Given the description of an element on the screen output the (x, y) to click on. 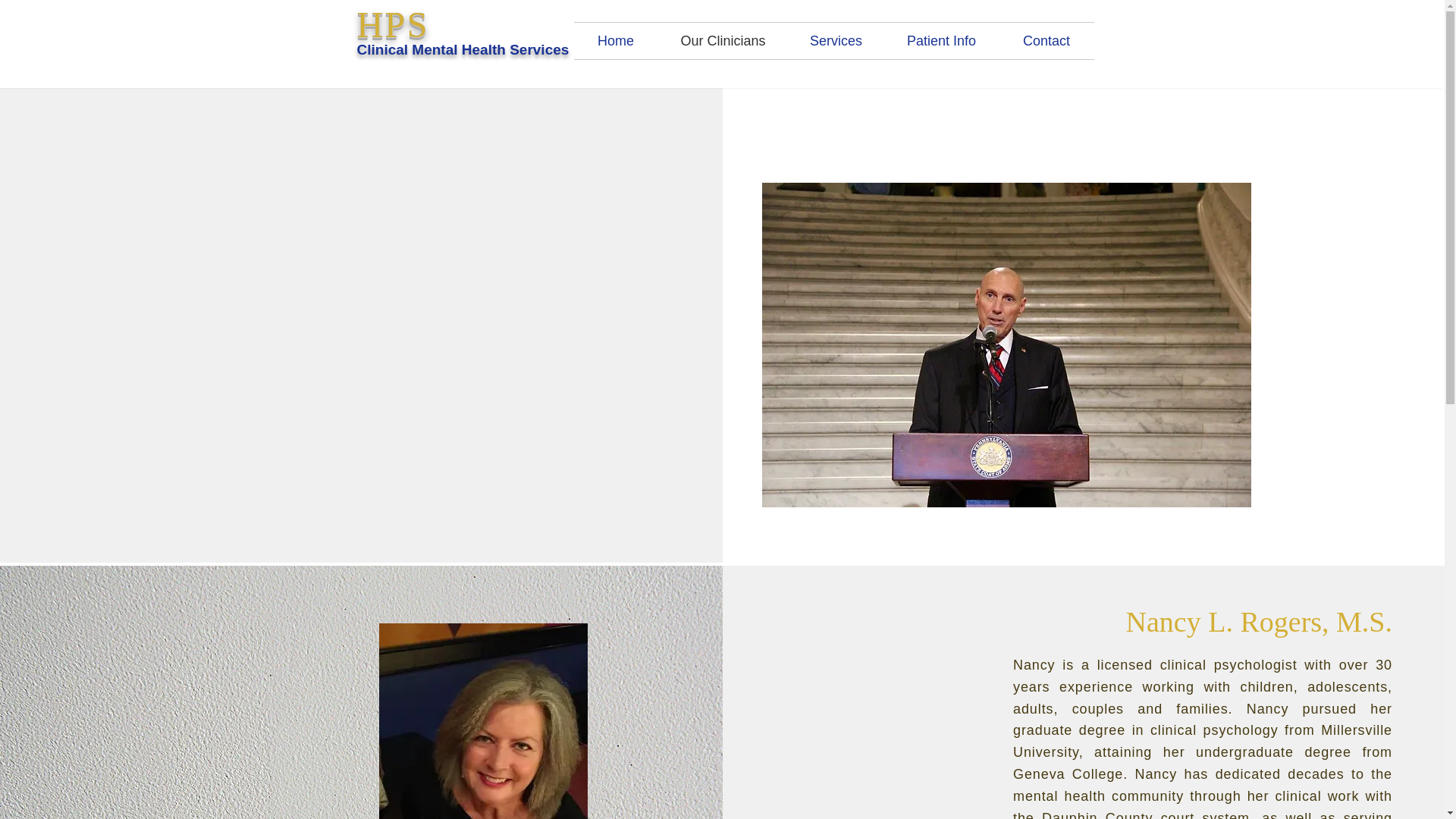
Contact (1046, 40)
Home (615, 40)
HPS (392, 24)
Services (836, 40)
Patient Info (940, 40)
Clinical Mental Health Services (462, 49)
Our Clinicians (723, 40)
